Given the description of an element on the screen output the (x, y) to click on. 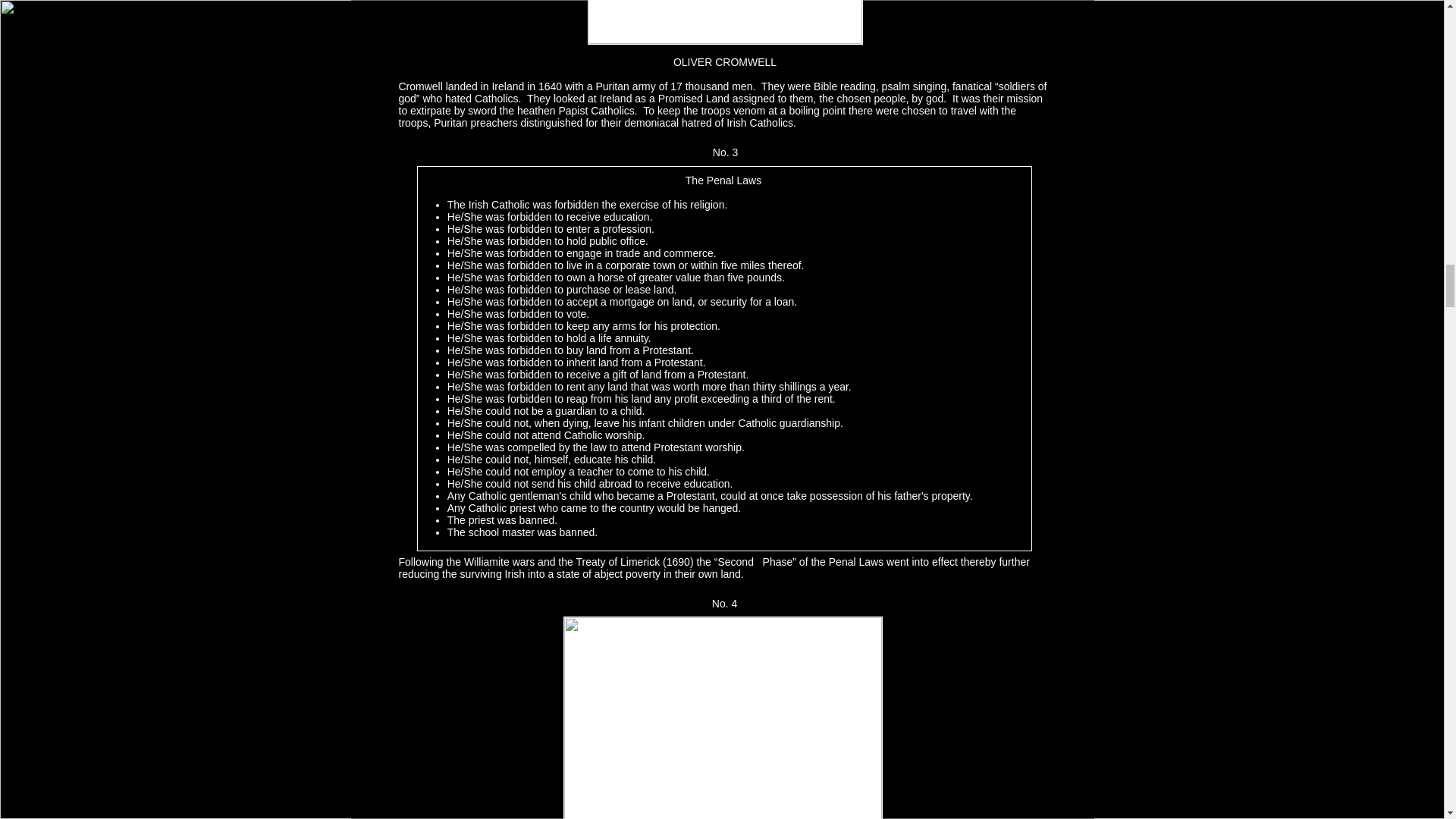
IMG-Chapter9E.jpg (722, 717)
IMG-Chapter9D.jpg (723, 22)
